Given the description of an element on the screen output the (x, y) to click on. 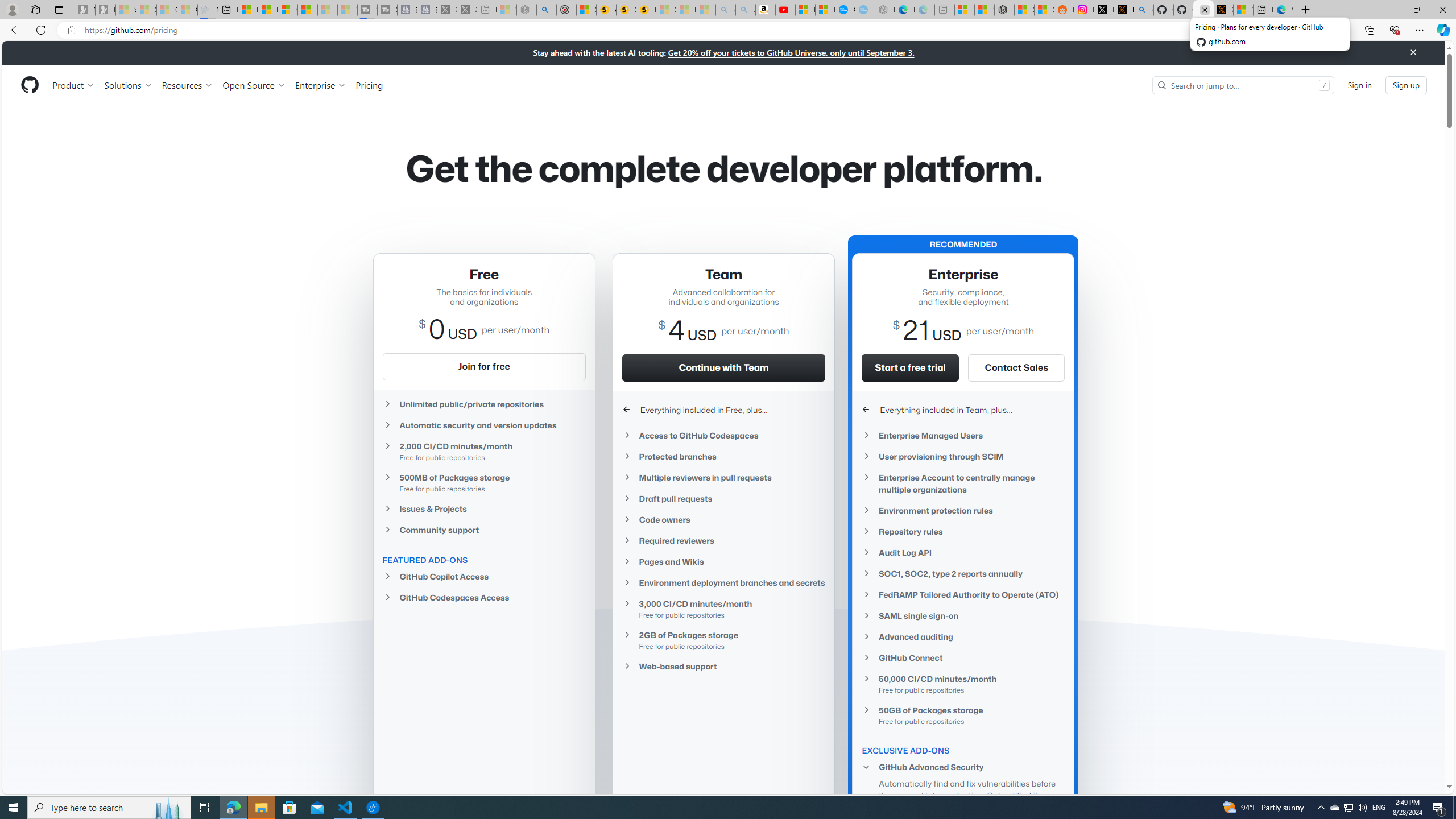
3,000 CI/CD minutes/monthFree for public repositories (723, 608)
Community support (483, 529)
500MB of Packages storageFree for public repositories (483, 482)
Multiple reviewers in pull requests (723, 477)
Shanghai, China Weather trends | Microsoft Weather (1043, 9)
Repository rules (963, 531)
Web-based support (723, 666)
Issues & Projects (483, 508)
Solutions (128, 84)
Access to GitHub Codespaces (723, 435)
Product (74, 84)
SAML single sign-on (963, 615)
